Given the description of an element on the screen output the (x, y) to click on. 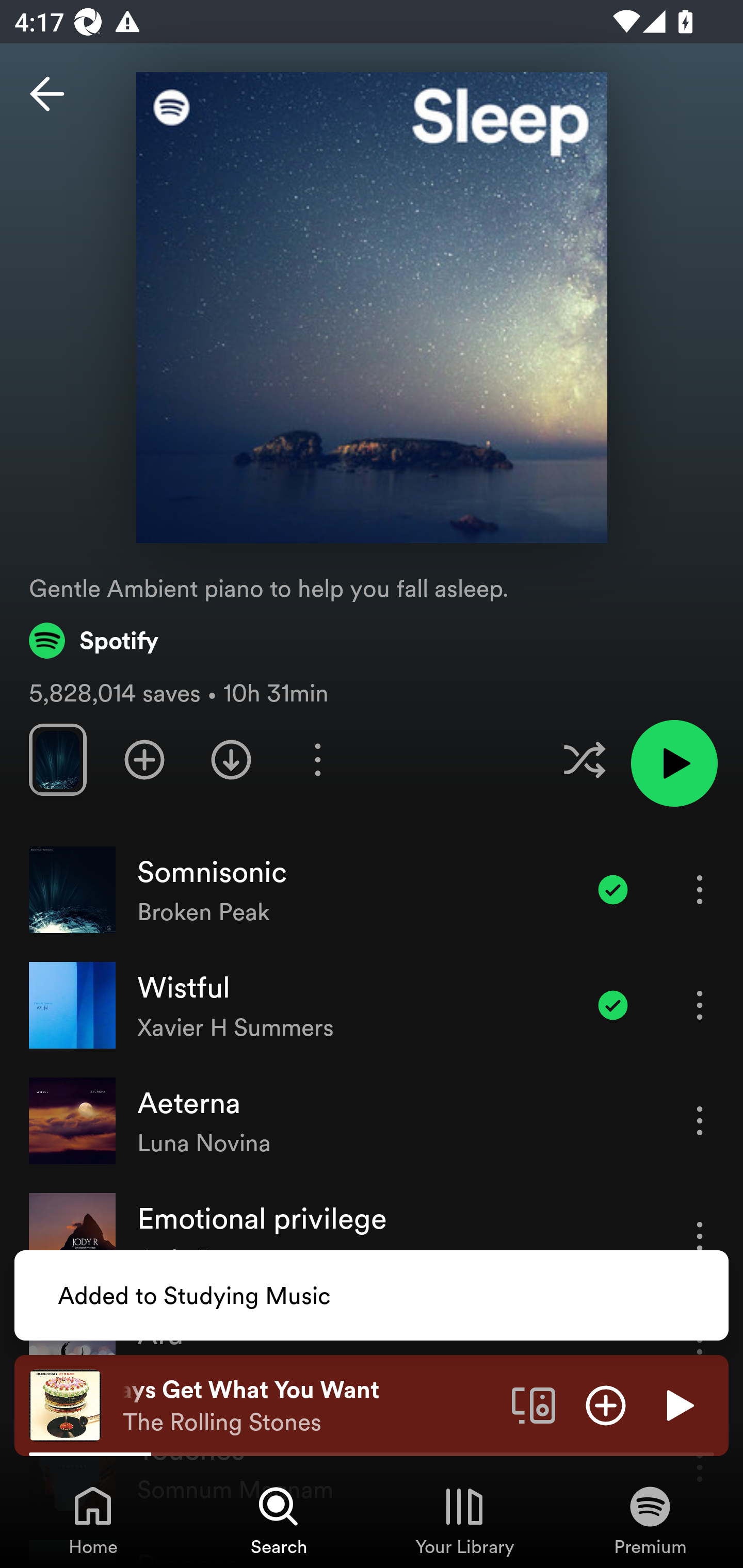
Back (46, 93)
Spotify (93, 640)
Swipe through previews of tracks in this playlist. (57, 759)
Add playlist to Your Library (144, 759)
Download (230, 759)
More options for playlist Sleep (317, 759)
Enable shuffle for this playlist (583, 759)
Play playlist (674, 763)
Item added (612, 889)
More options for song Somnisonic (699, 889)
Item added (612, 1004)
More options for song Wistful (699, 1004)
Aeterna Luna Novina More options for song Aeterna (371, 1121)
More options for song Aeterna (699, 1120)
More options for song Emotional privilege (699, 1236)
The cover art of the currently playing track (64, 1404)
Connect to a device. Opens the devices menu (533, 1404)
Add item (605, 1404)
Play (677, 1404)
Home, Tab 1 of 4 Home Home (92, 1519)
Search, Tab 2 of 4 Search Search (278, 1519)
Your Library, Tab 3 of 4 Your Library Your Library (464, 1519)
Premium, Tab 4 of 4 Premium Premium (650, 1519)
